Given the description of an element on the screen output the (x, y) to click on. 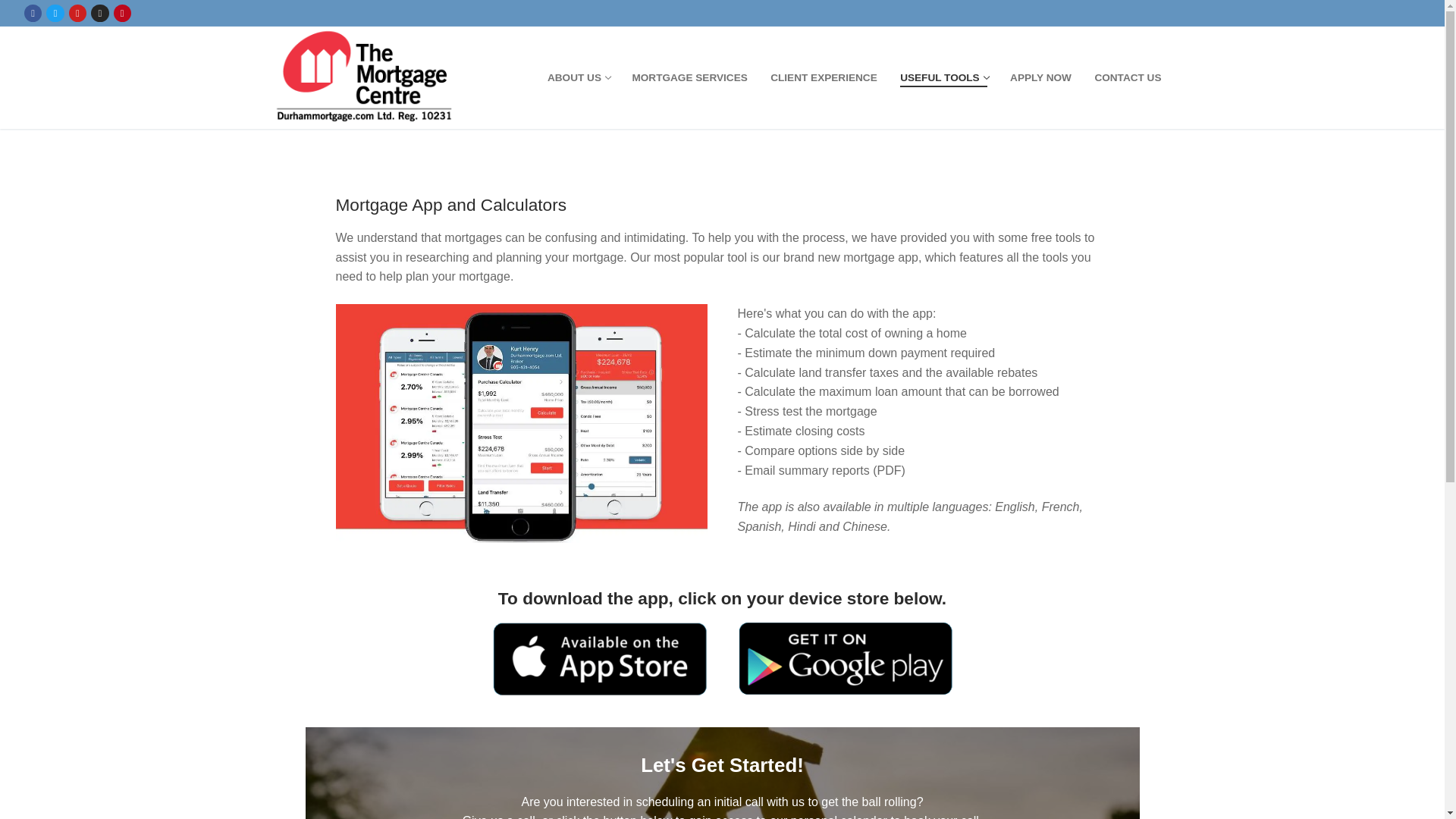
MORTGAGE SERVICES (689, 77)
Google Play (844, 658)
Facebook (32, 13)
App Store (600, 658)
Twitter (55, 13)
Youtube (77, 13)
Instagram (99, 13)
CLIENT EXPERIENCE (823, 77)
Pinterest (122, 13)
App Pic 9.51.20 AM (520, 422)
CONTACT US (942, 77)
APPLY NOW (1127, 77)
